Given the description of an element on the screen output the (x, y) to click on. 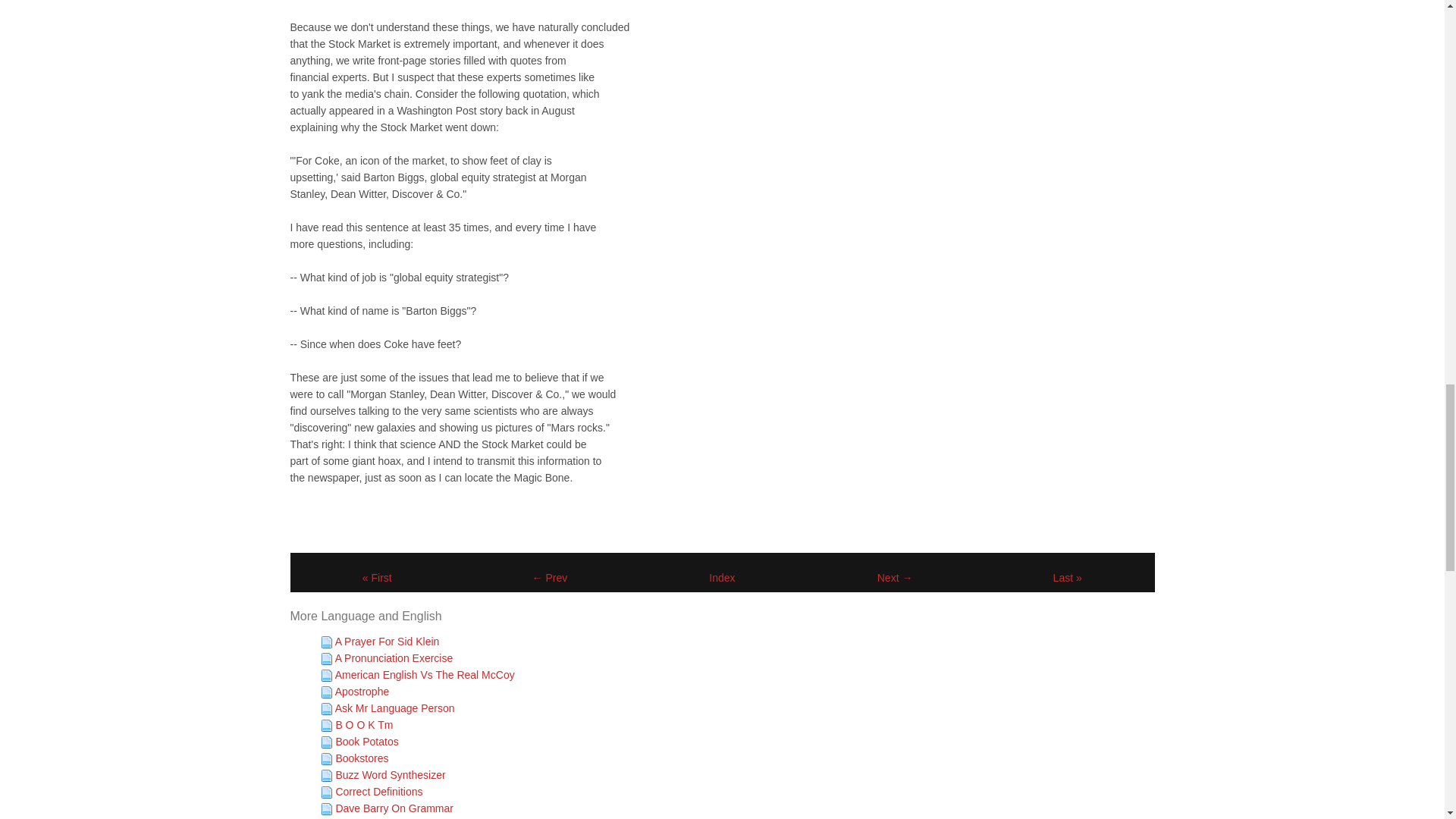
A Pronunciation Exercise (393, 657)
Apostrophe (362, 691)
Index (722, 577)
A Prayer For Sid Klein (386, 641)
Book Potatos (365, 741)
Correct Definitions (378, 791)
Bookstores (361, 758)
Ask Mr Language Person (394, 707)
Dave Barry On Grammar (393, 808)
Buzz Word Synthesizer (389, 775)
American English Vs The Real McCoy (424, 674)
B O O K Tm (363, 725)
